Given the description of an element on the screen output the (x, y) to click on. 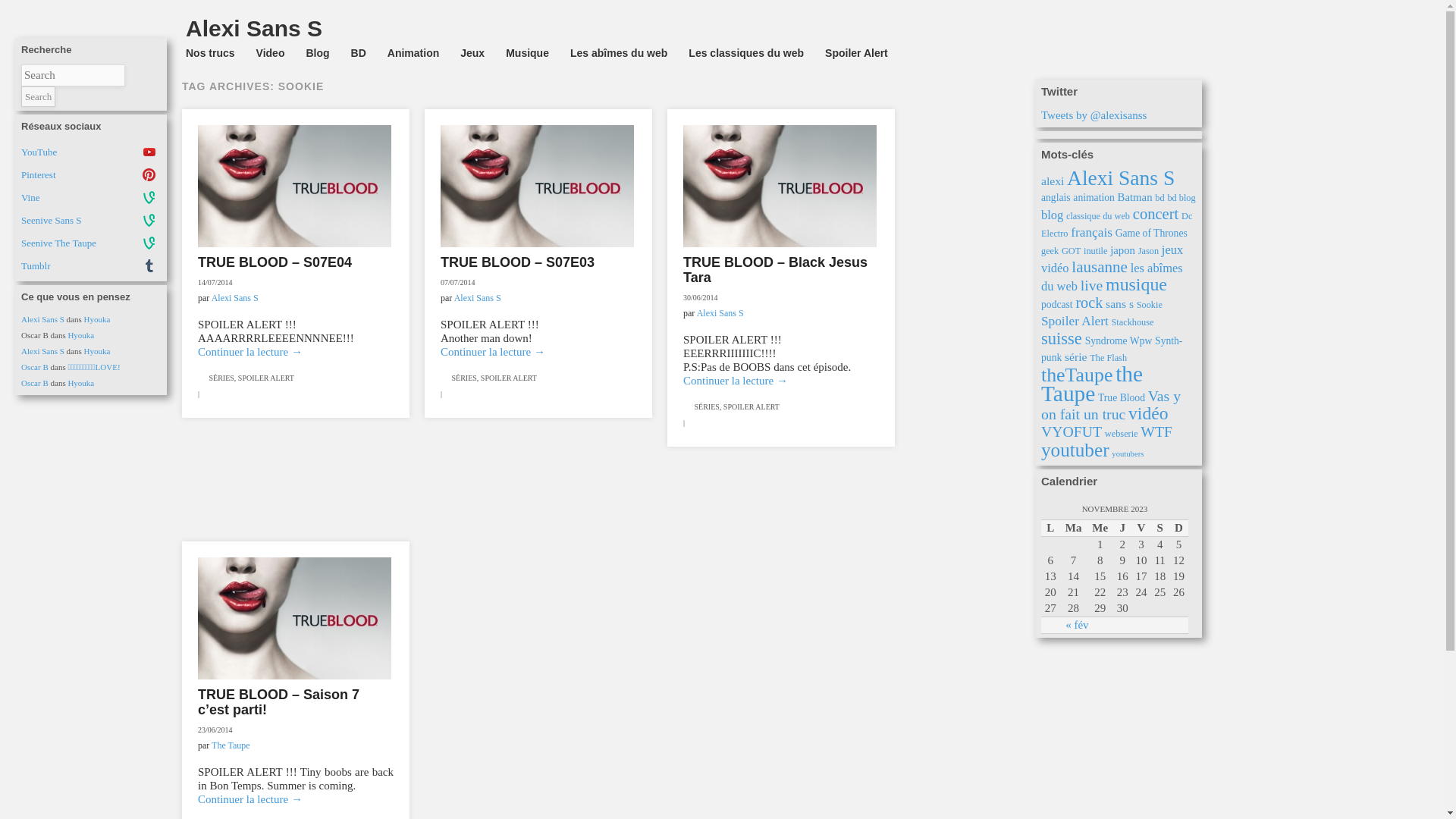
Spoiler Alert Element type: text (1074, 320)
Sookie Element type: text (1149, 304)
bd blog Element type: text (1181, 197)
Pinterest Element type: text (90, 174)
Nos trucs Element type: text (210, 53)
SPOILER ALERT Element type: text (751, 406)
musique Element type: text (1136, 284)
Hyouka Element type: text (80, 334)
theTaupe Element type: text (1076, 374)
Spoiler Alert Element type: text (856, 53)
Animation Element type: text (413, 53)
blog Element type: text (1052, 214)
GOT Element type: text (1070, 250)
23/06/2014 Element type: text (214, 729)
Hyouka Element type: text (97, 350)
Stackhouse Element type: text (1131, 321)
Syndrome Wpw Element type: text (1118, 340)
SPOILER ALERT Element type: text (266, 377)
Hyouka Element type: text (97, 318)
Hyouka Element type: text (80, 382)
live Element type: text (1091, 284)
Tweets by @alexisanss Element type: text (1093, 115)
Alexi Sans S Element type: text (42, 350)
WTF Element type: text (1156, 431)
the Taupe Element type: text (1091, 383)
Synth-punk Element type: text (1111, 349)
suisse Element type: text (1061, 338)
Tumblr Element type: text (90, 265)
The Flash Element type: text (1107, 357)
YouTube Element type: text (90, 152)
bd Element type: text (1159, 197)
webserie Element type: text (1121, 433)
rock Element type: text (1088, 302)
Game of Thrones Element type: text (1151, 232)
REPLY Element type: text (452, 393)
animation Element type: text (1093, 197)
lausanne Element type: text (1099, 266)
07/07/2014 Element type: text (457, 282)
REPLY Element type: text (209, 393)
Musique Element type: text (527, 53)
Jeux Element type: text (472, 53)
30/06/2014 Element type: text (700, 297)
Batman Element type: text (1134, 197)
podcast Element type: text (1057, 304)
alexi Element type: text (1052, 180)
Vas y on fait un truc Element type: text (1110, 404)
The Taupe Element type: text (230, 745)
Dc Element type: text (1186, 215)
Vine Element type: text (90, 197)
Video Element type: text (270, 53)
BD Element type: text (358, 53)
Alexi Sans S Element type: text (234, 297)
Seenive Sans S Element type: text (90, 220)
concert Element type: text (1155, 213)
VYOFUT Element type: text (1071, 431)
Oscar B Element type: text (34, 382)
Seenive The Taupe Element type: text (90, 243)
anglais Element type: text (1055, 197)
Les classiques du web Element type: text (745, 53)
inutile Element type: text (1095, 250)
Alexi Sans S Element type: text (253, 27)
youtubers Element type: text (1127, 453)
True Blood Element type: text (1121, 397)
Search Element type: text (38, 96)
geek Element type: text (1049, 250)
sans s Element type: text (1119, 303)
Oscar B Element type: text (34, 366)
Blog Element type: text (317, 53)
SPOILER ALERT Element type: text (508, 377)
Alexi Sans S Element type: text (42, 318)
REPLY Element type: text (695, 422)
youtuber Element type: text (1075, 449)
Alexi Sans S Element type: text (477, 297)
Electro Element type: text (1054, 233)
14/07/2014 Element type: text (214, 282)
Alexi Sans S Element type: text (1120, 177)
japon Element type: text (1122, 250)
Alexi Sans S Element type: text (719, 312)
Jason Element type: text (1148, 250)
classique du web Element type: text (1097, 215)
